Given the description of an element on the screen output the (x, y) to click on. 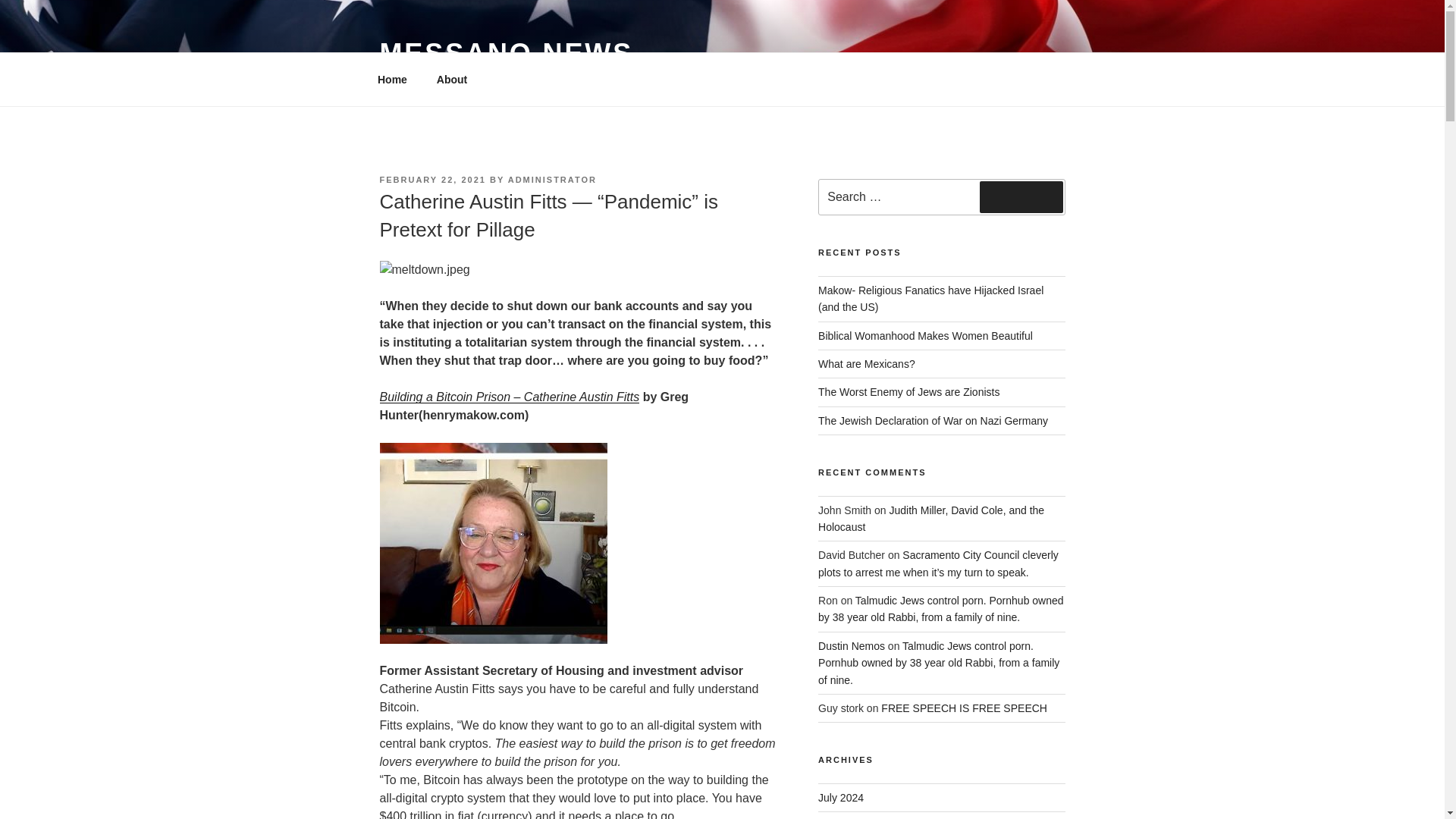
July 2024 (840, 797)
What are Mexicans? (866, 363)
Judith Miller, David Cole, and the Holocaust  (930, 517)
Dustin Nemos (851, 645)
Search (1020, 196)
MESSANO NEWS (505, 52)
FEBRUARY 22, 2021 (431, 179)
Biblical Womanhood Makes Women Beautiful  (926, 336)
The Worst Enemy of Jews are Zionists (908, 391)
FREE SPEECH IS FREE SPEECH (963, 707)
Home (392, 78)
The Jewish Declaration of War on Nazi Germany (933, 420)
About (451, 78)
